Given the description of an element on the screen output the (x, y) to click on. 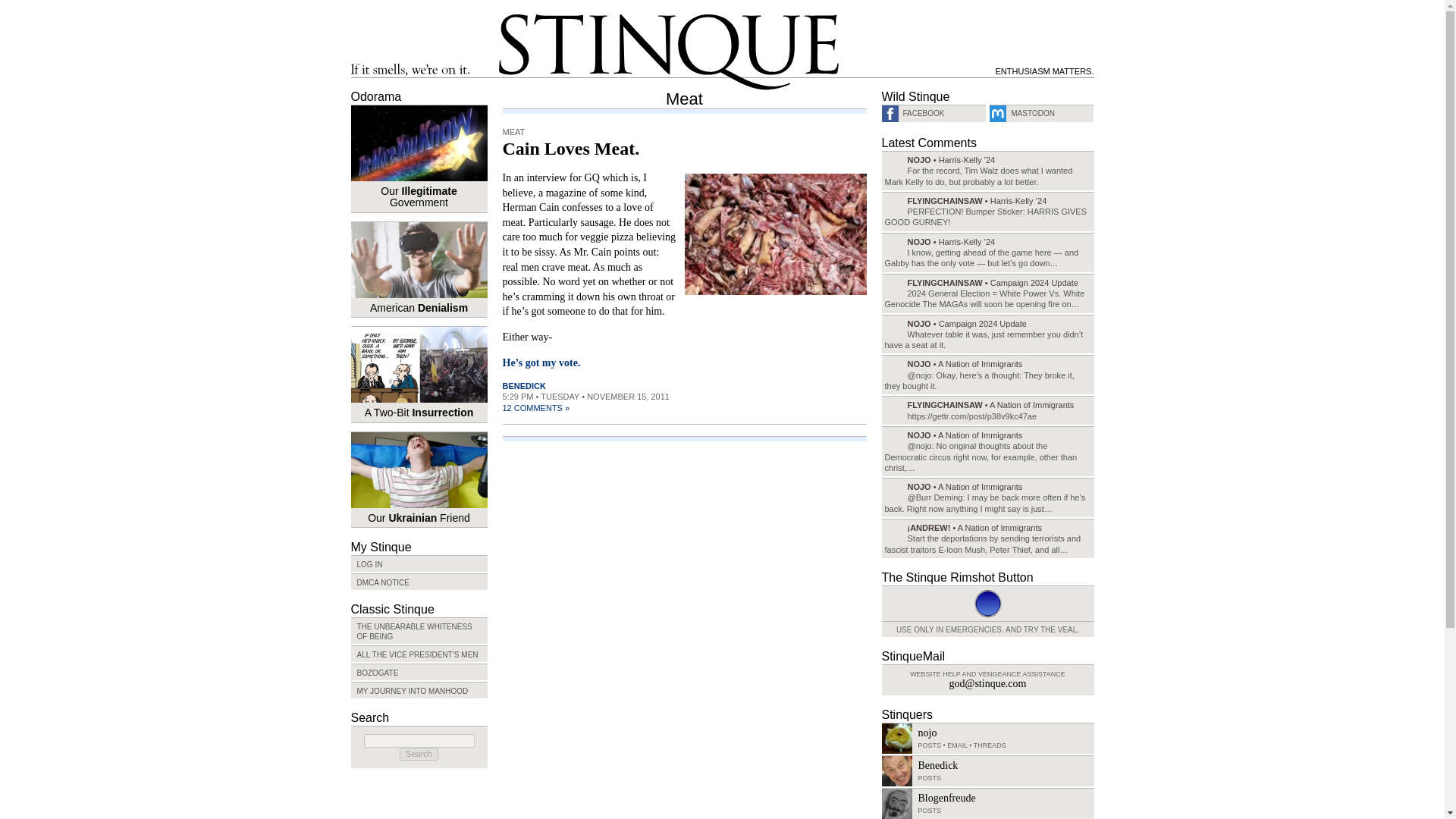
Our Ukrainian Friend (418, 479)
FACEBOOK (932, 113)
EMAIL (957, 745)
MY JOURNEY INTO MANHOOD (418, 689)
Search (418, 753)
POSTS (928, 810)
MASTODON (1041, 113)
MEAT (513, 131)
THREADS (990, 745)
Our Illegitimate Government (418, 158)
